Given the description of an element on the screen output the (x, y) to click on. 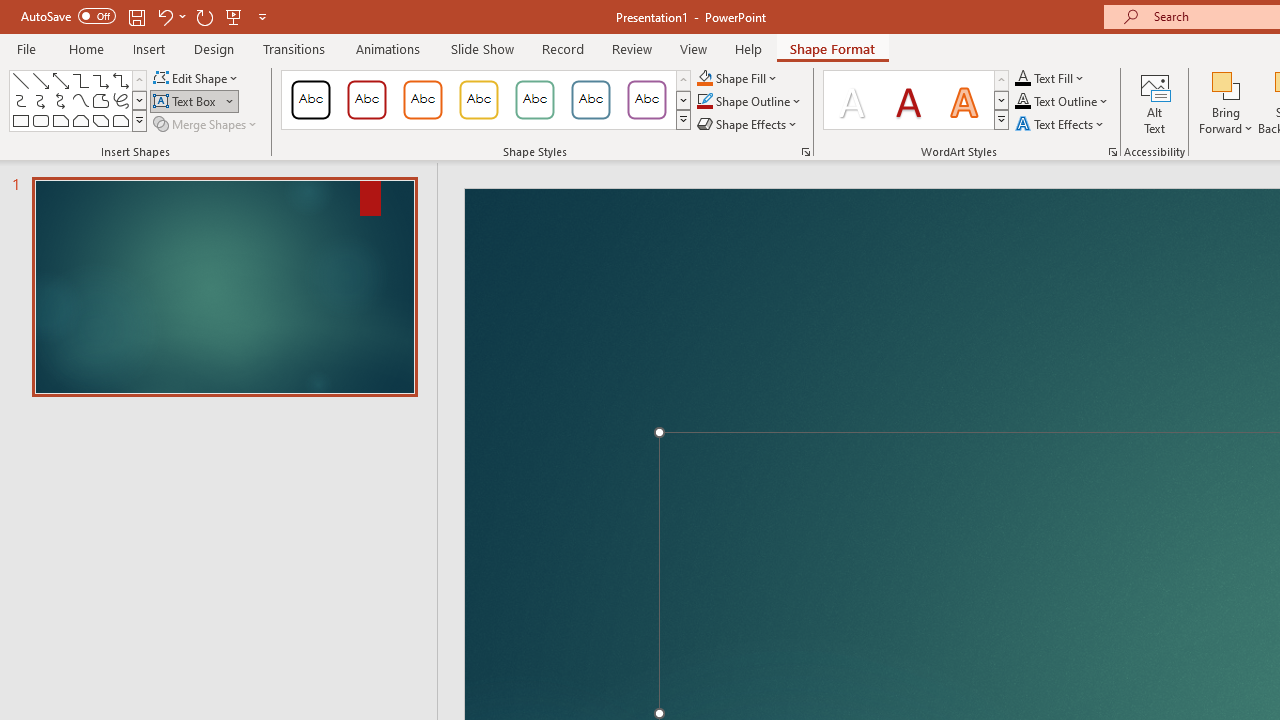
Edit Shape (196, 78)
Merge Shapes (206, 124)
Colored Outline - Purple, Accent 6 (646, 100)
AutomationID: ShapeStylesGallery (486, 99)
Rectangle: Single Corner Snipped (60, 120)
Colored Outline - Black, Dark 1 (310, 100)
